Given the description of an element on the screen output the (x, y) to click on. 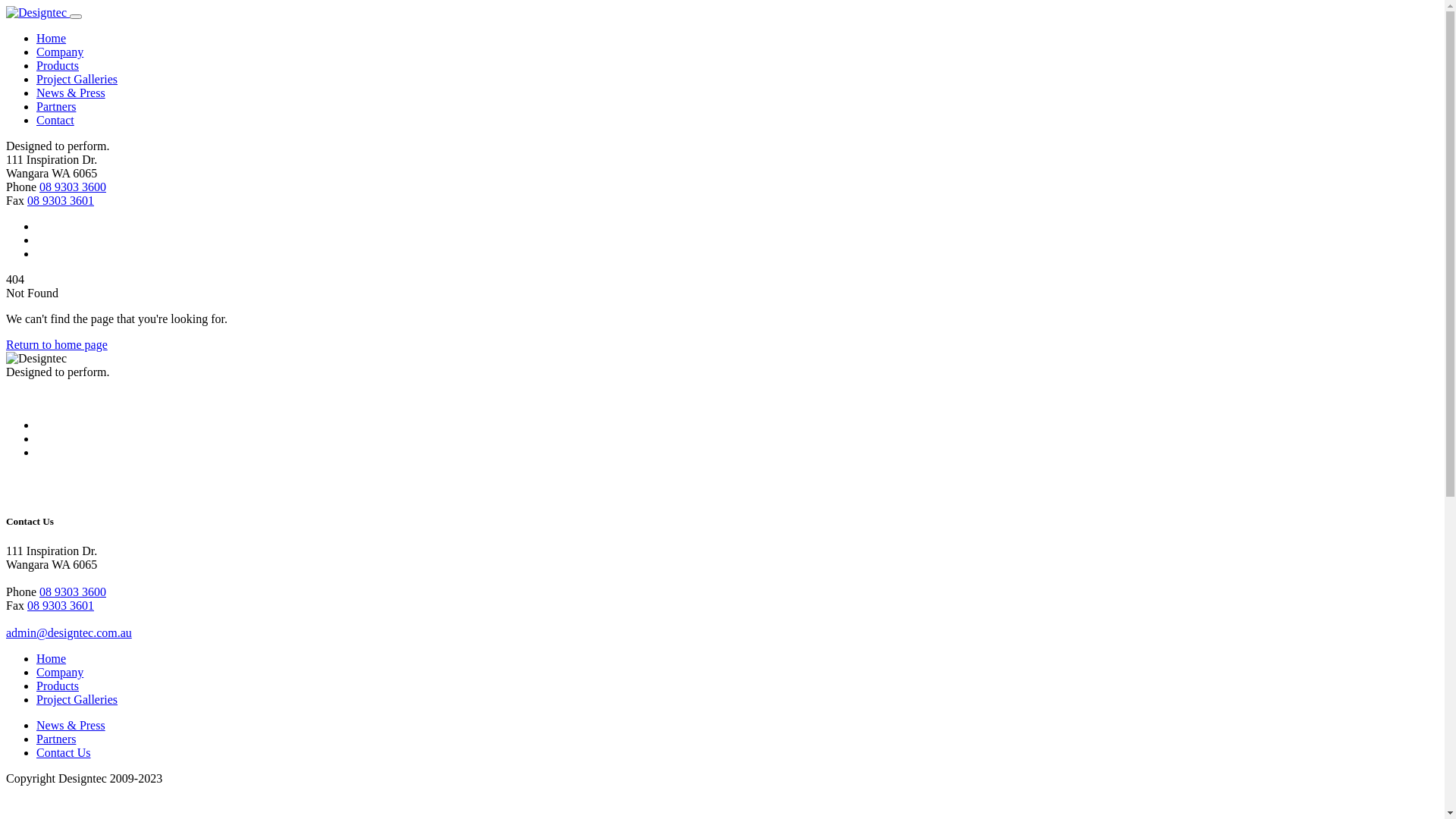
Products Element type: text (57, 685)
Company Element type: text (59, 671)
News & Press Element type: text (70, 724)
Products Element type: text (57, 65)
Contact Us Element type: text (63, 752)
Partners Element type: text (55, 738)
admin@designtec.com.au Element type: text (68, 632)
News & Press Element type: text (70, 92)
08 9303 3601 Element type: text (60, 605)
Home Element type: text (50, 37)
08 9303 3600 Element type: text (72, 186)
08 9303 3600 Element type: text (72, 591)
Contact Element type: text (55, 119)
Project Galleries Element type: text (76, 699)
08 9303 3601 Element type: text (60, 200)
Home Element type: text (50, 658)
Project Galleries Element type: text (76, 78)
Company Element type: text (59, 51)
Partners Element type: text (55, 106)
Return to home page Element type: text (56, 344)
